Given the description of an element on the screen output the (x, y) to click on. 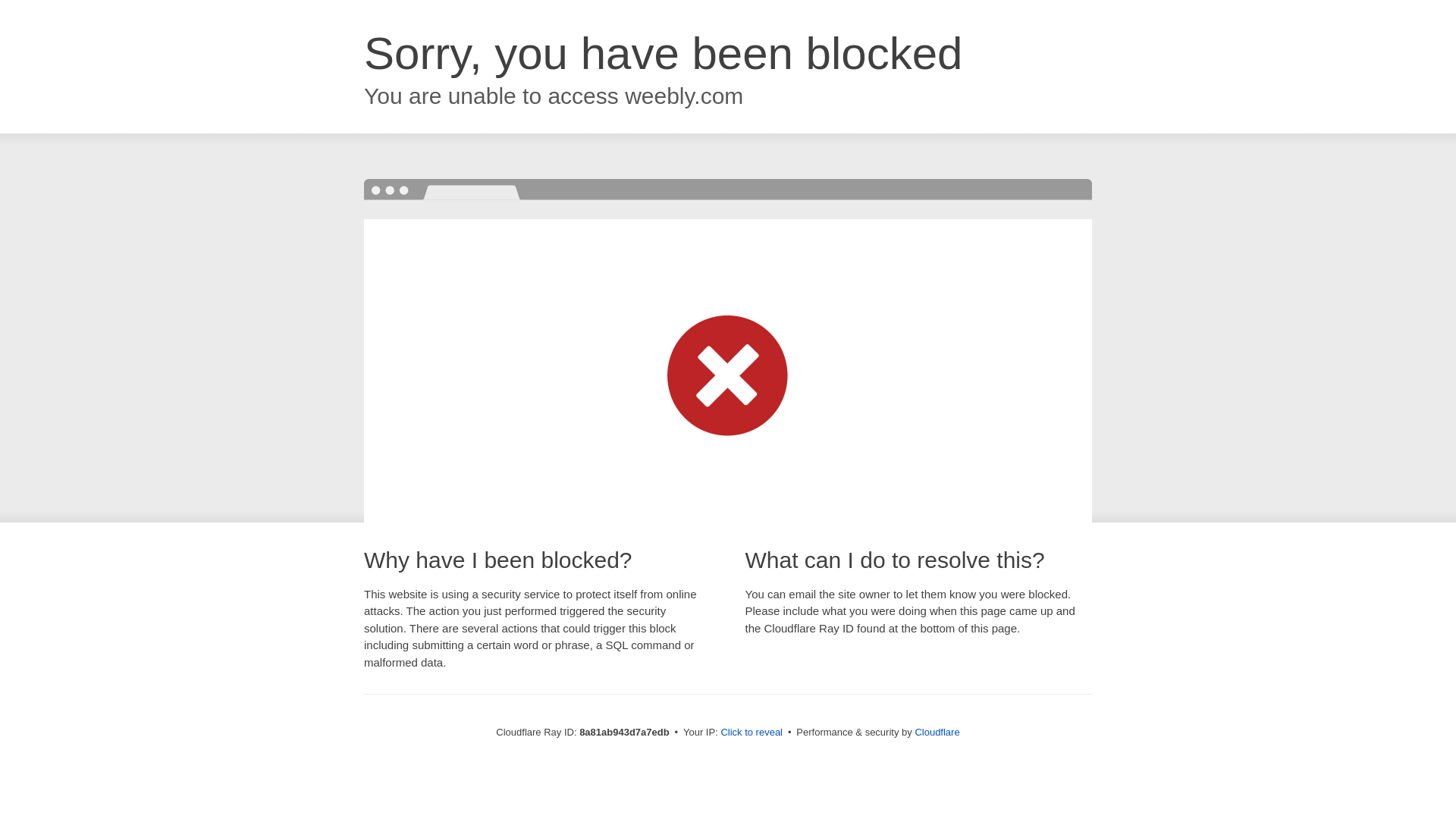
Cloudflare (936, 731)
Click to reveal (751, 732)
